Given the description of an element on the screen output the (x, y) to click on. 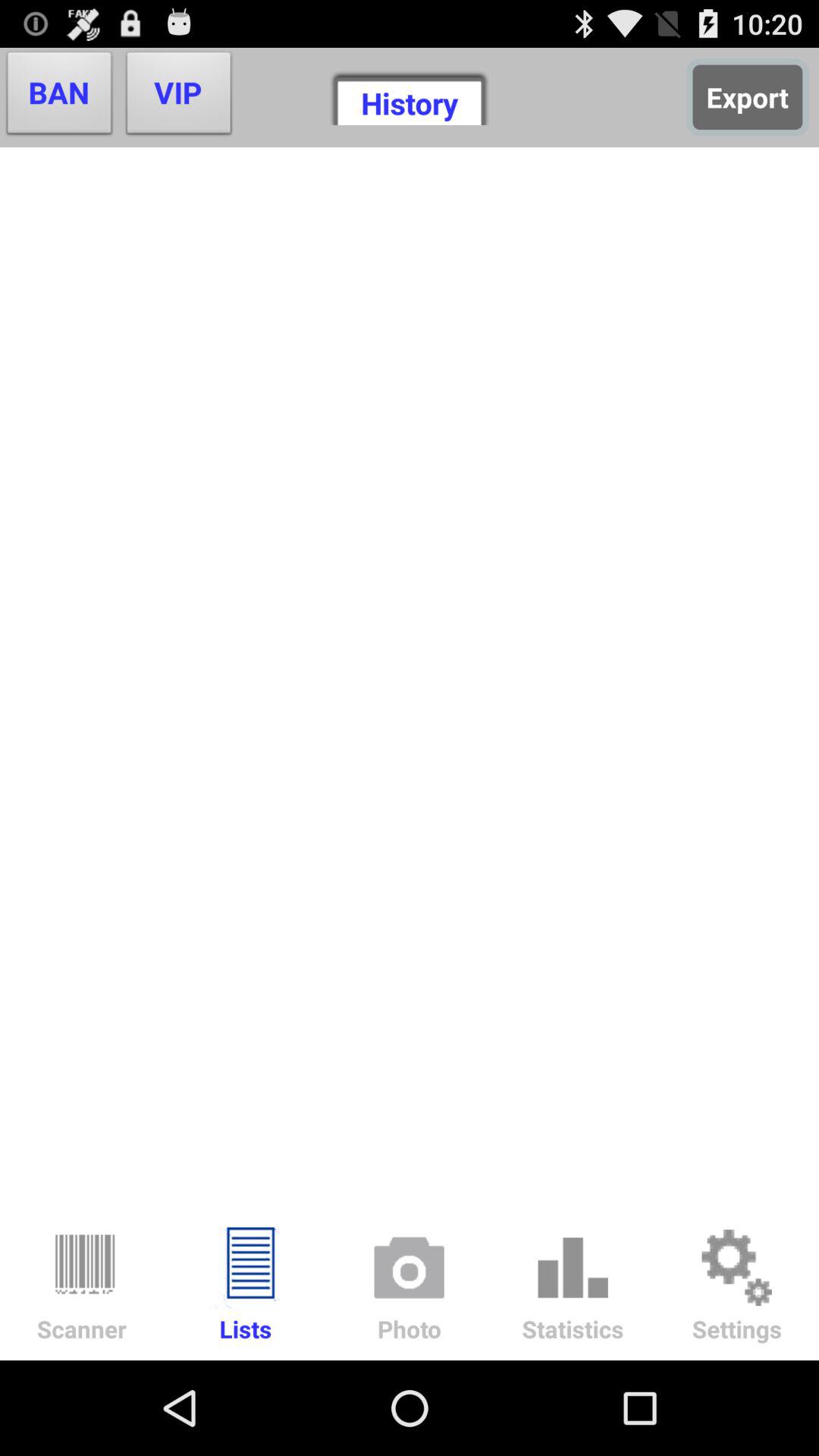
turn off the item below vip item (409, 677)
